Given the description of an element on the screen output the (x, y) to click on. 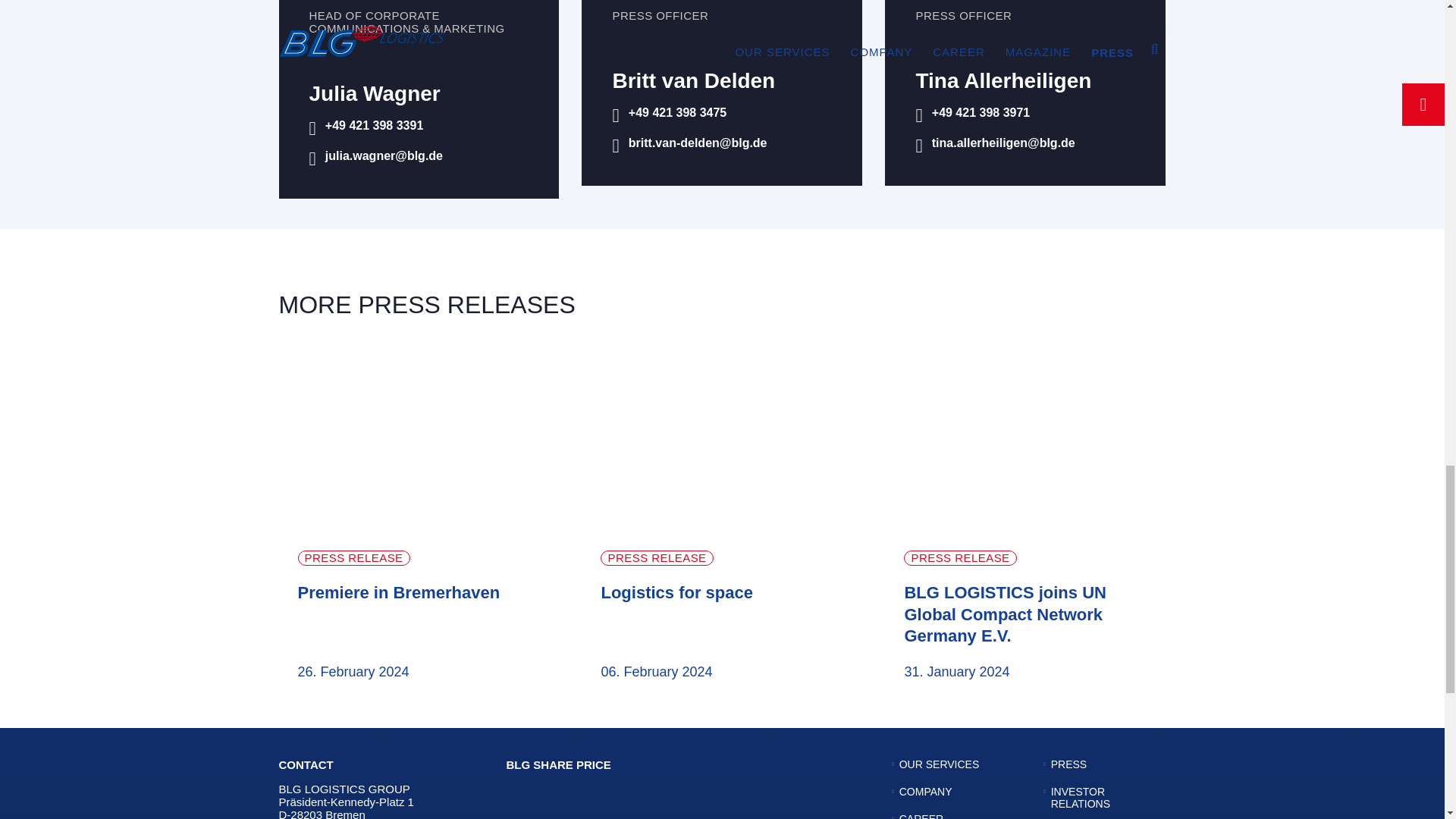
Company (925, 791)
Career (921, 816)
Press (1068, 764)
Our services (939, 764)
Investor Relations (1080, 797)
